Given the description of an element on the screen output the (x, y) to click on. 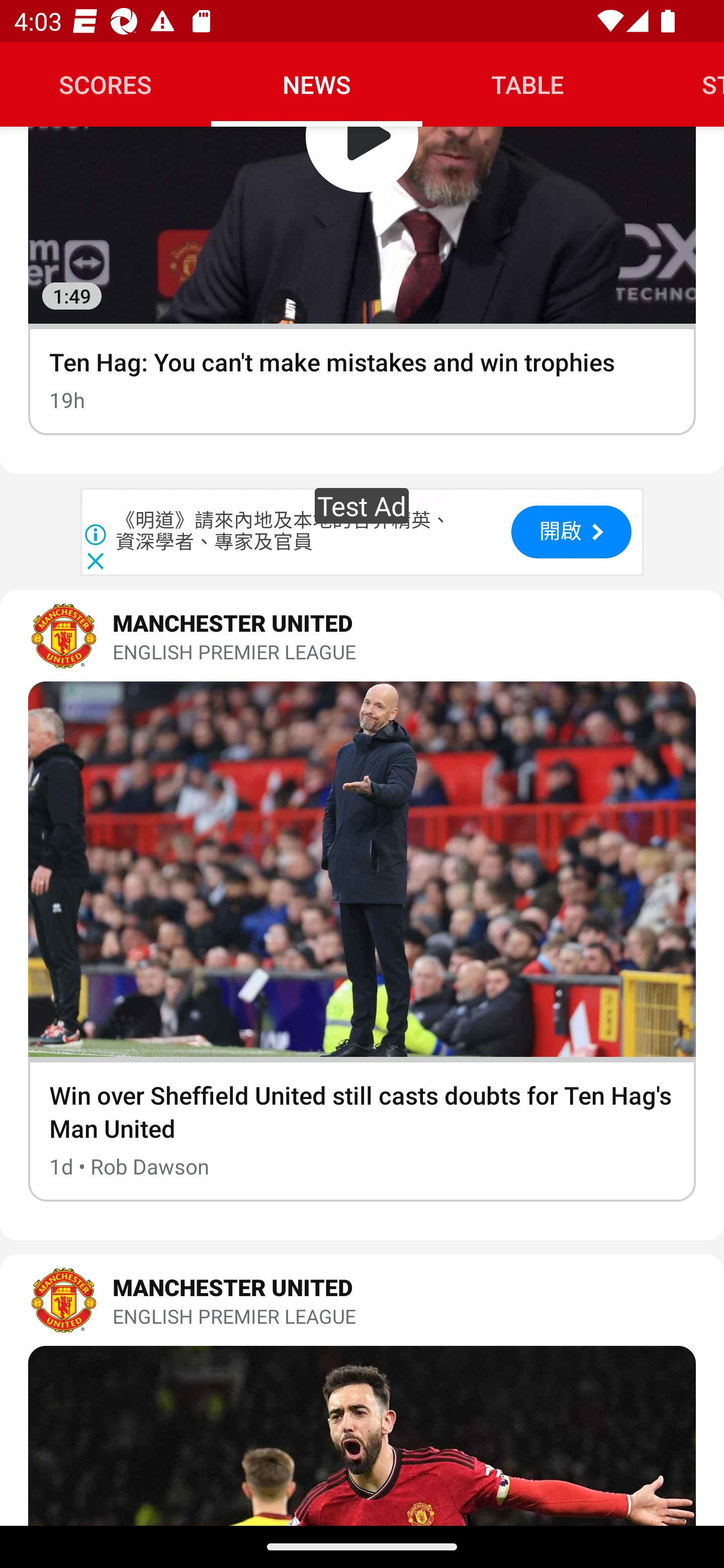
Scores SCORES (105, 84)
Table TABLE (527, 84)
開啟 (570, 531)
MANCHESTER UNITED ENGLISH PREMIER LEAGUE (362, 635)
MANCHESTER UNITED ENGLISH PREMIER LEAGUE (362, 1299)
